Given the description of an element on the screen output the (x, y) to click on. 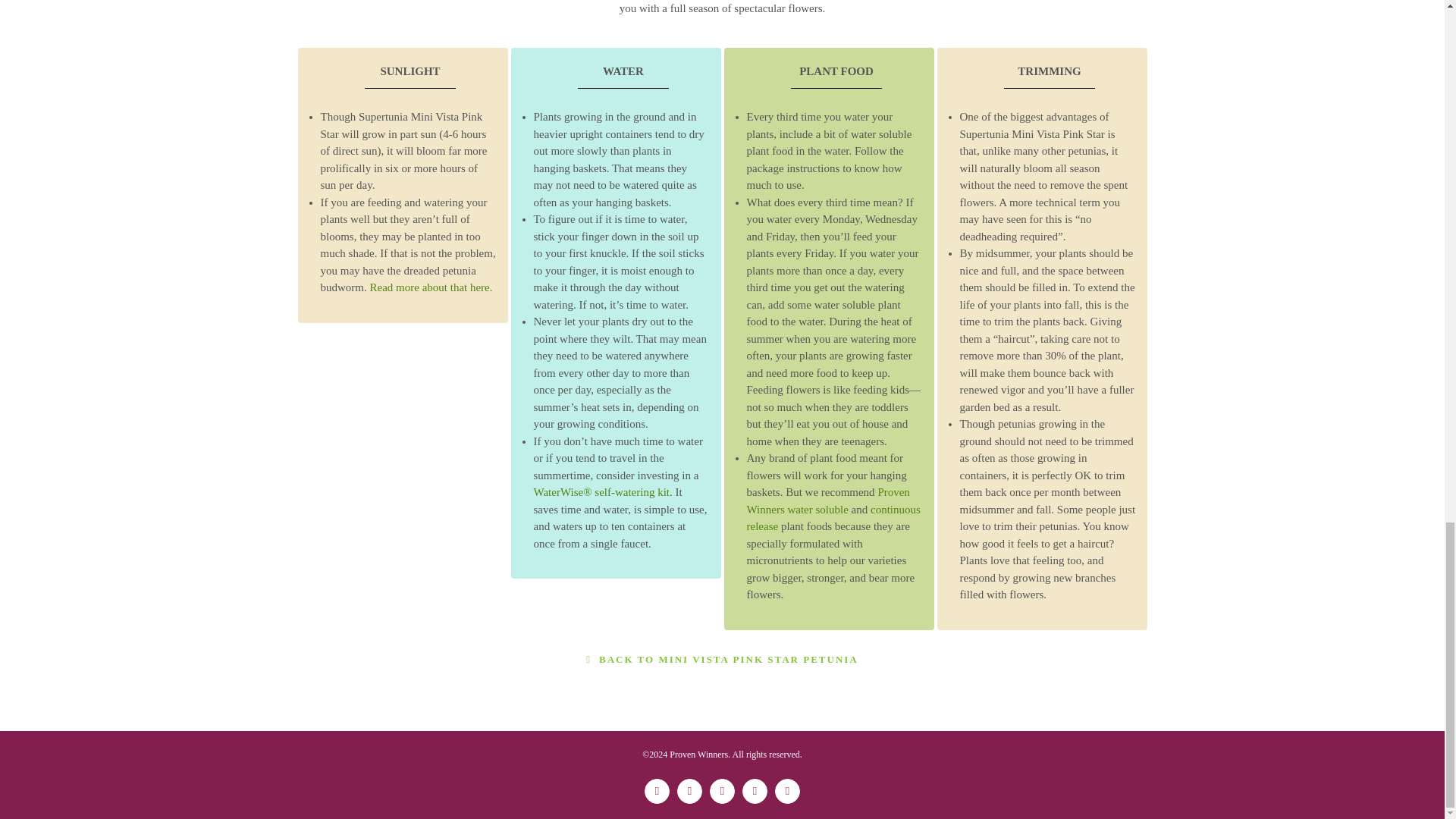
Instagram (722, 790)
YouTube (786, 790)
Facebook (657, 790)
Tiktok (754, 790)
Twitter (689, 790)
